Given the description of an element on the screen output the (x, y) to click on. 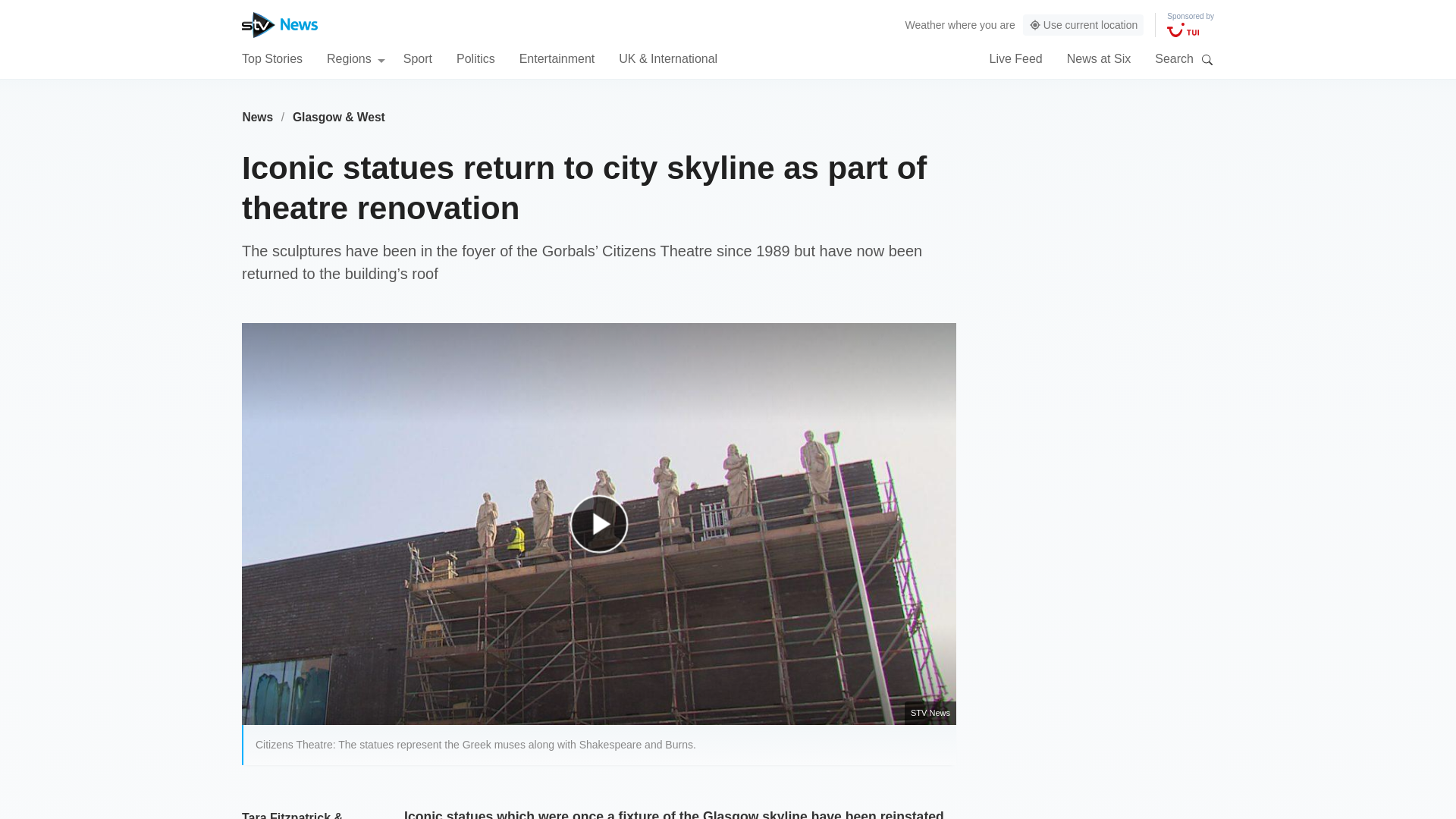
News (257, 116)
Live Feed (1015, 57)
Use current location (1083, 25)
Top Stories (271, 57)
Entertainment (557, 57)
News at Six (1099, 57)
Politics (476, 57)
Search (1206, 59)
Play Video (606, 530)
Regions (355, 57)
Weather (924, 24)
